Given the description of an element on the screen output the (x, y) to click on. 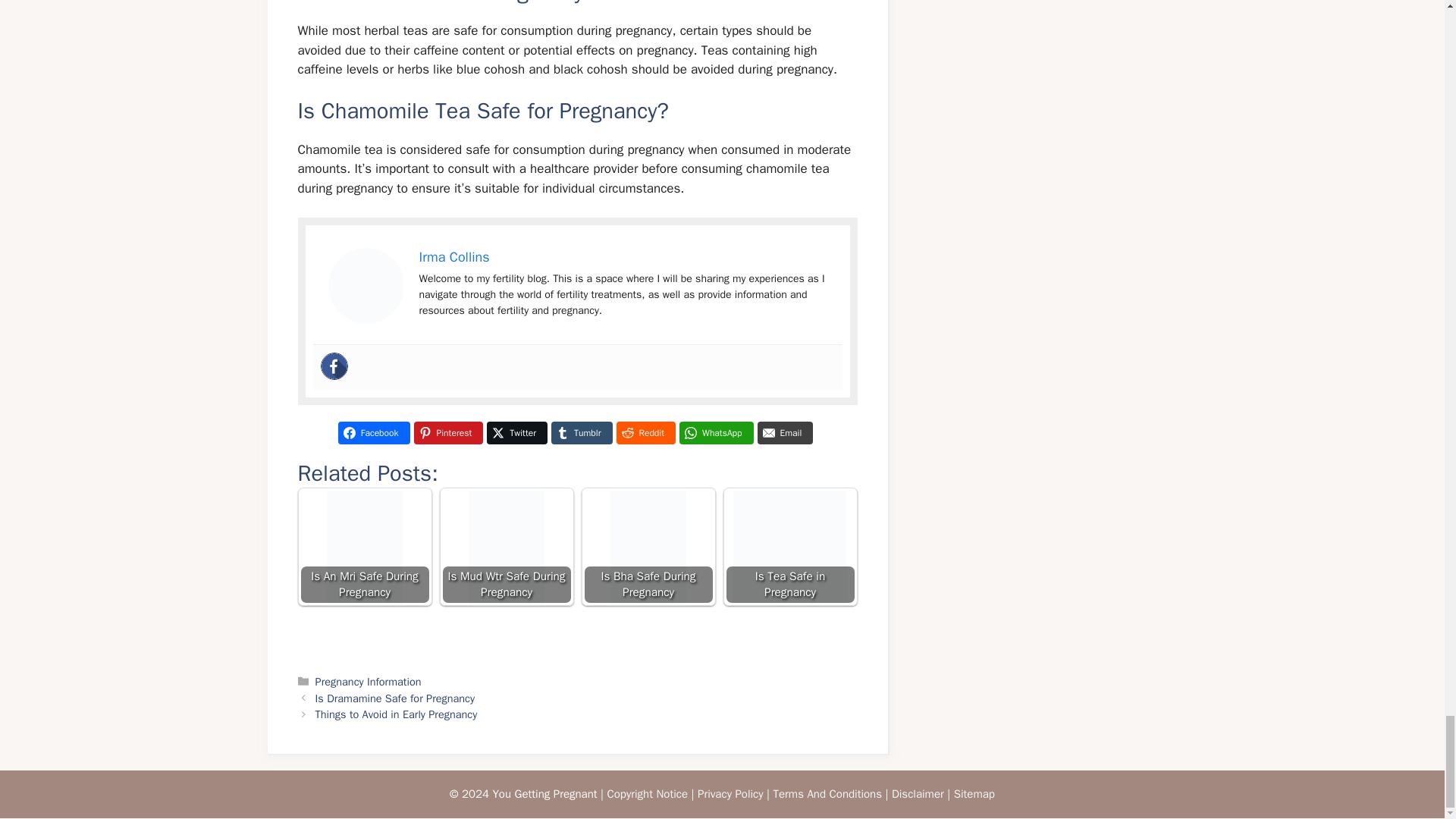
Facebook (373, 432)
Pinterest (448, 432)
Irma Collins (454, 256)
